Given the description of an element on the screen output the (x, y) to click on. 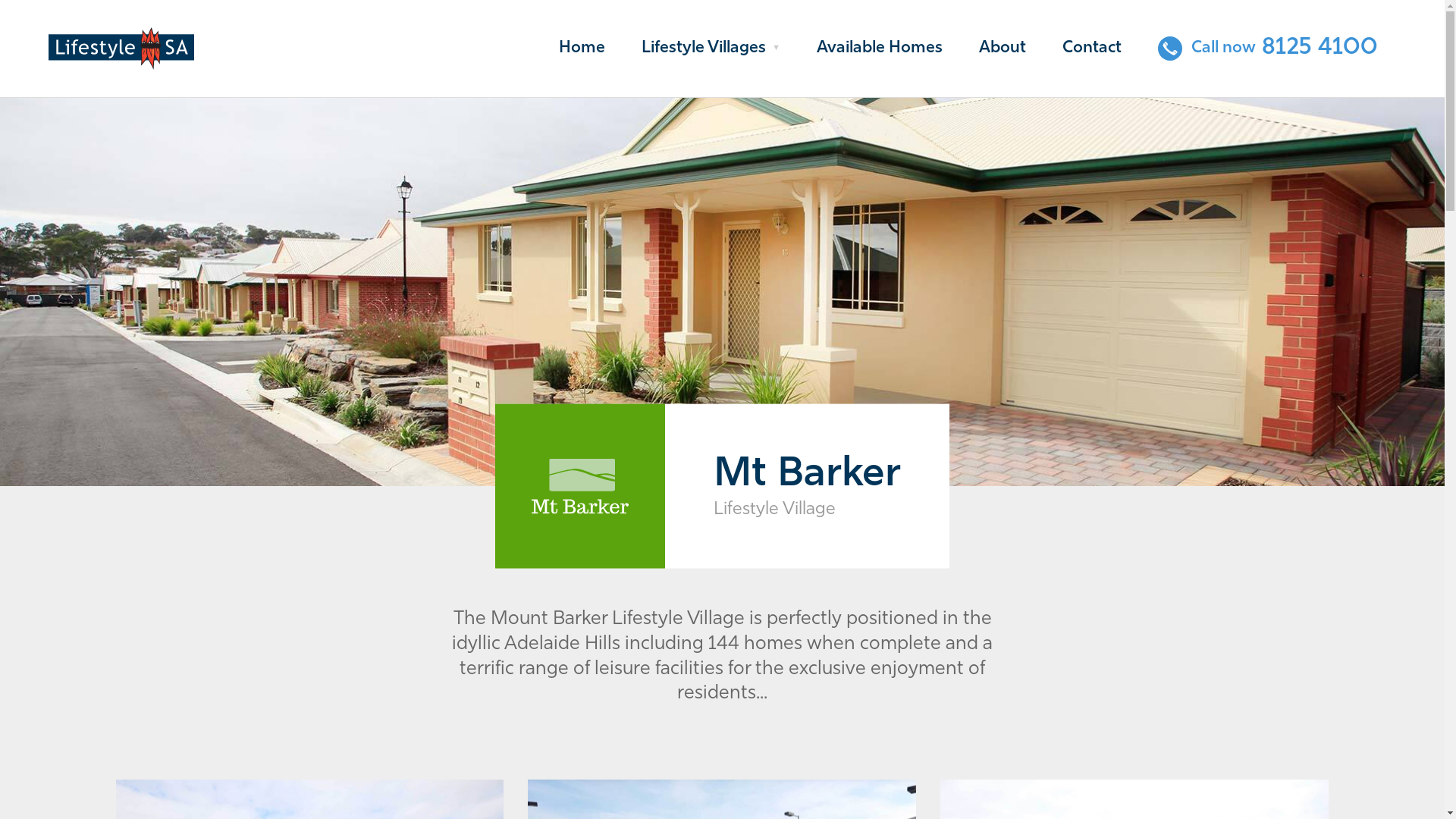
Available Homes Element type: text (879, 48)
Call now
8125 4100 Element type: text (1267, 48)
About Element type: text (1002, 48)
Lifestyle Villages Element type: text (710, 48)
Contact Element type: text (1091, 48)
Home Element type: text (581, 48)
